Given the description of an element on the screen output the (x, y) to click on. 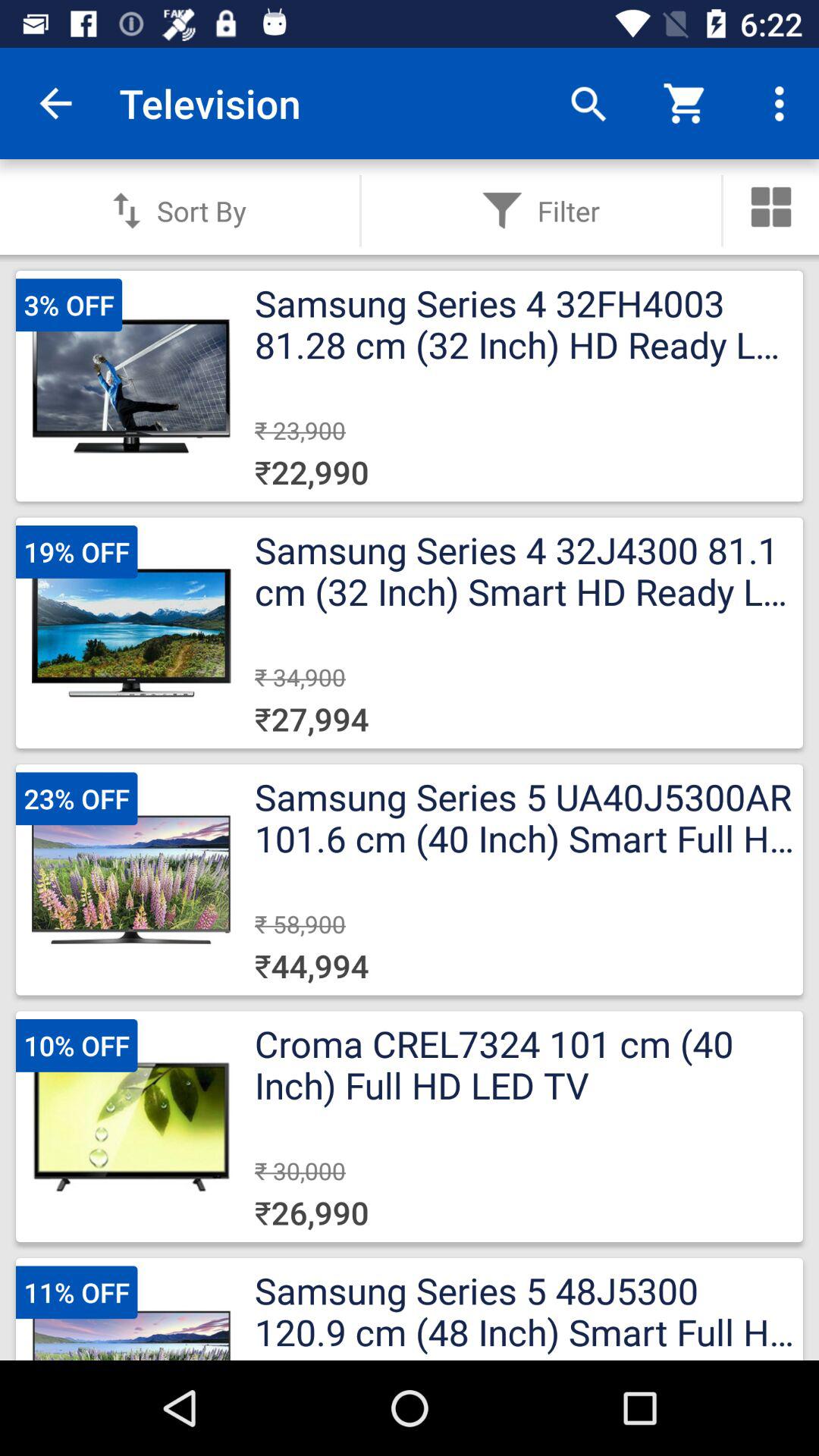
click app next to the television app (587, 103)
